Given the description of an element on the screen output the (x, y) to click on. 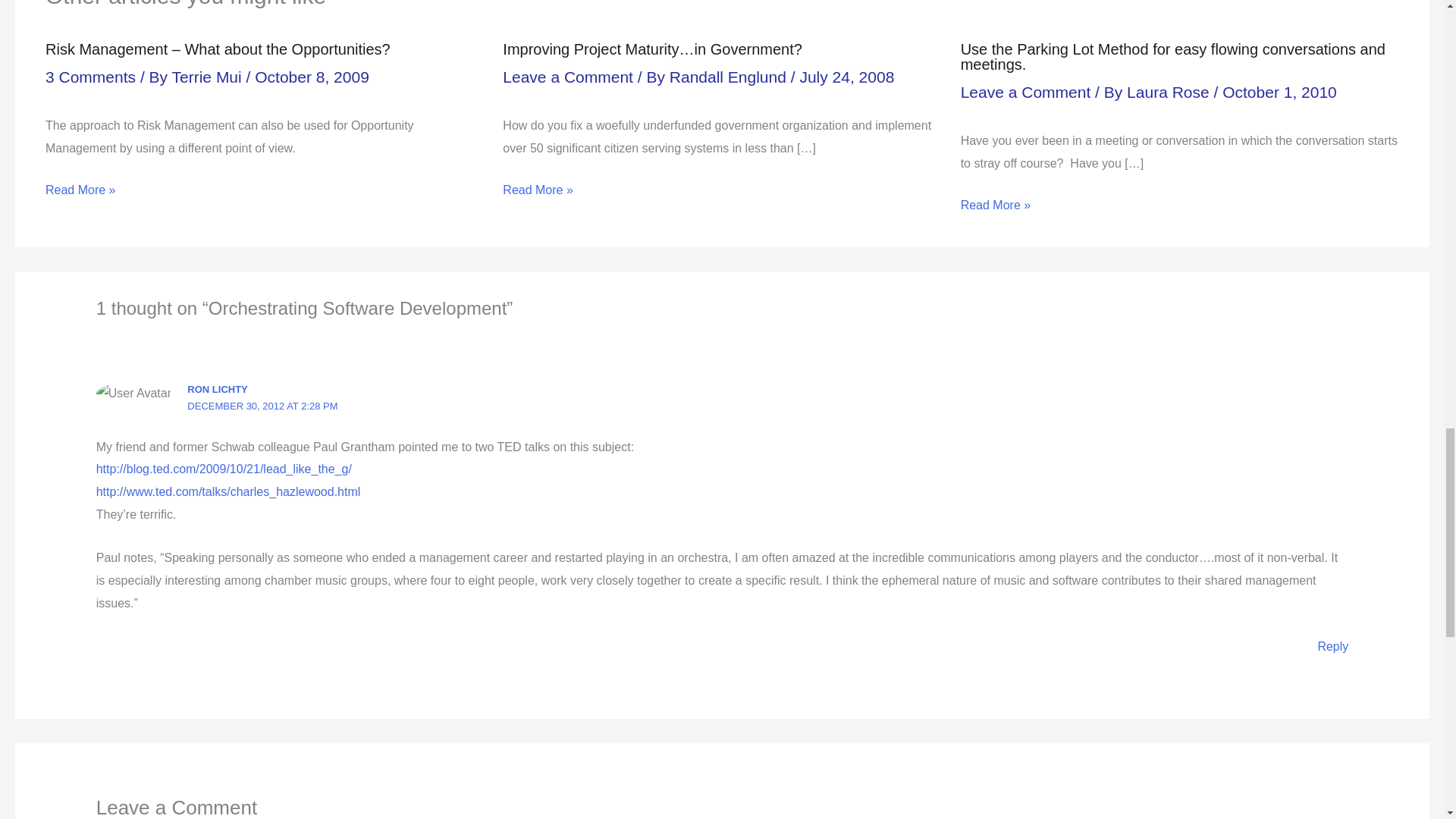
View all posts by Terrie Mui (208, 76)
View all posts by Randall Englund (729, 76)
View all posts by Laura Rose (1169, 91)
